Given the description of an element on the screen output the (x, y) to click on. 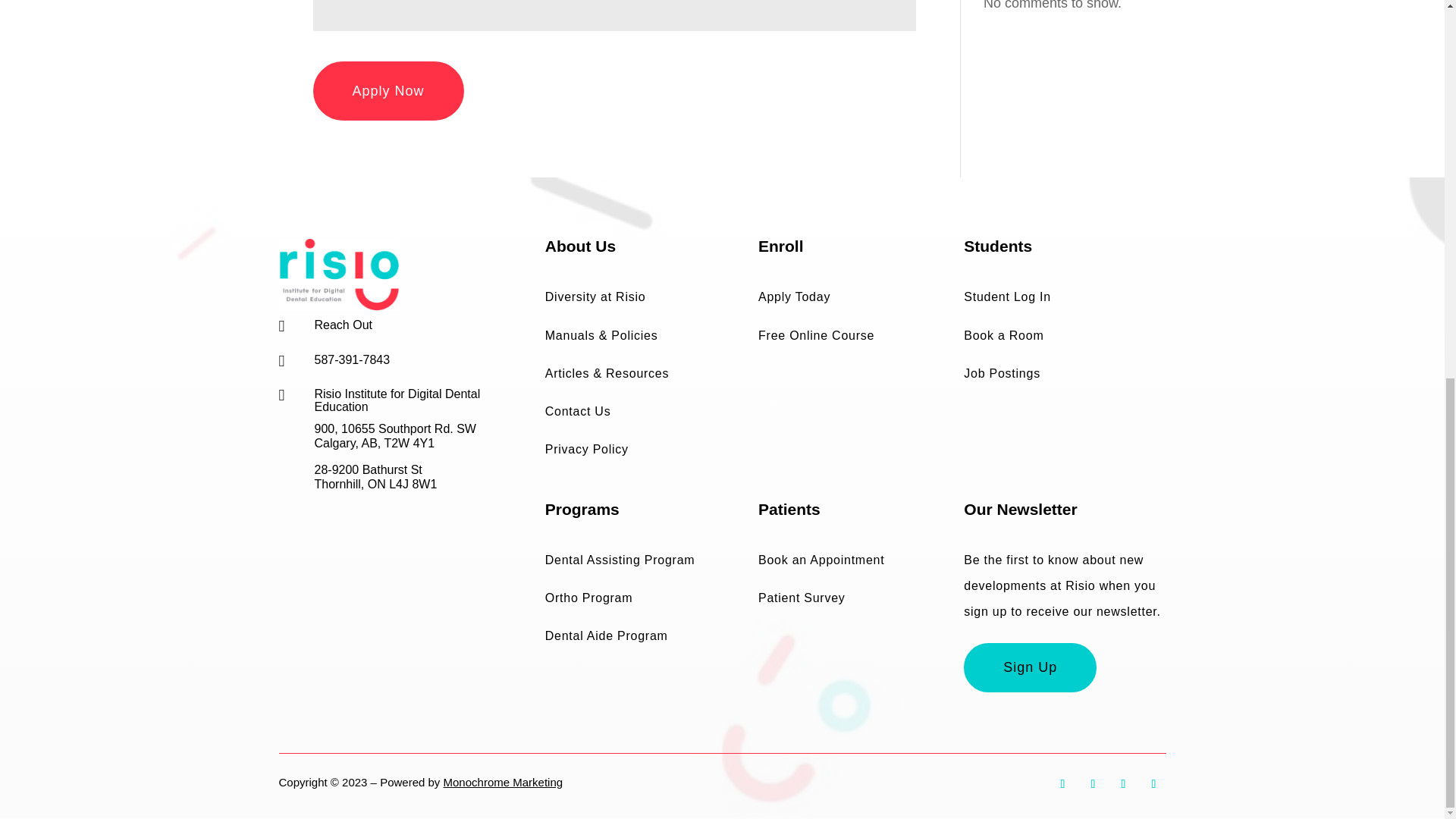
Apply Now (388, 90)
Follow on LinkedIn (1092, 784)
Follow on Instagram (1122, 784)
Risio-Logo-Animated-Optimized (339, 274)
Reach Out (342, 324)
Follow on Facebook (1061, 784)
Follow on Youtube (1153, 784)
